Given the description of an element on the screen output the (x, y) to click on. 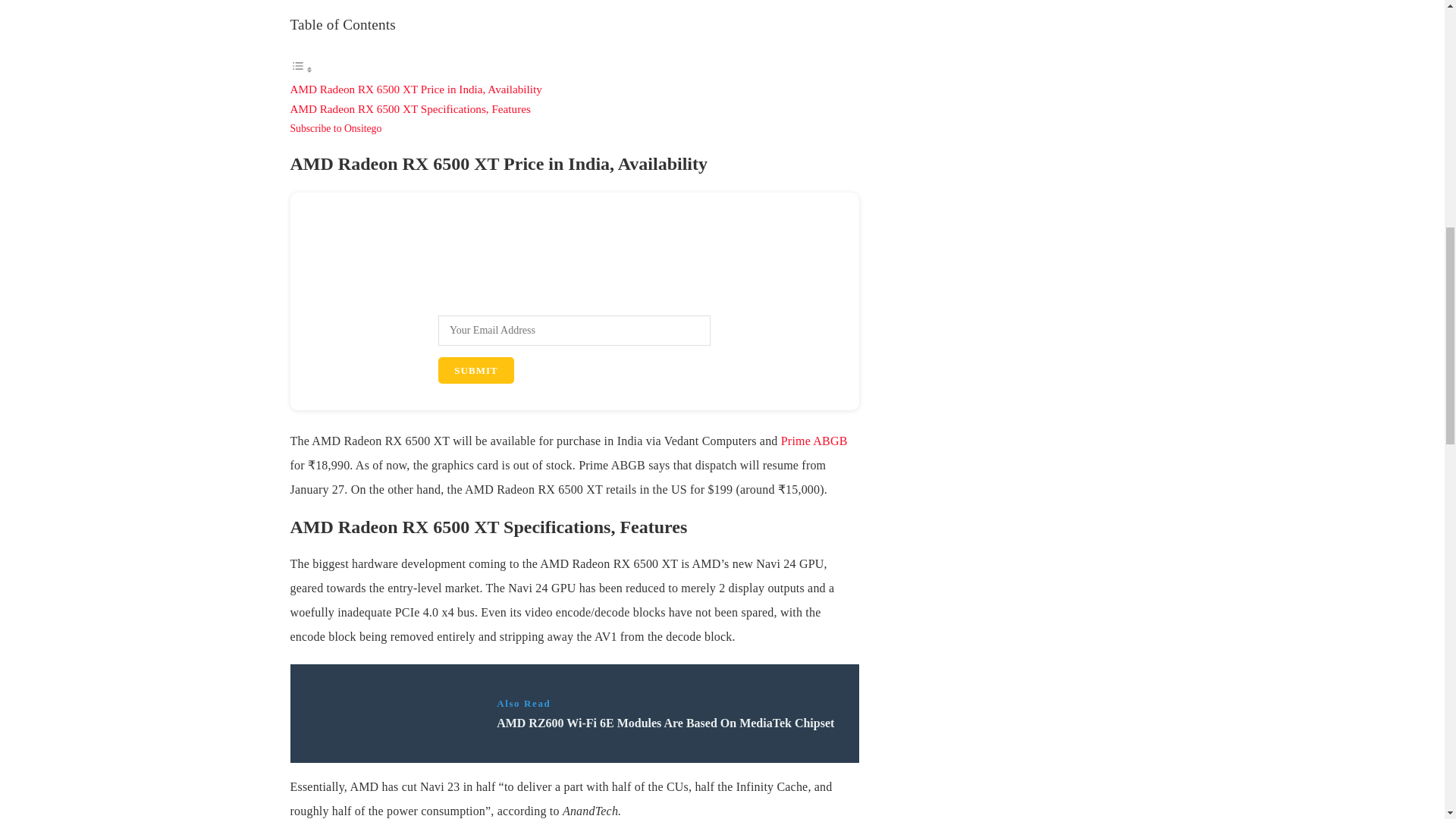
Submit (475, 370)
AMD Radeon RX 6500 XT Specifications, Features (409, 108)
Subscribe to Onsitego (335, 128)
